Given the description of an element on the screen output the (x, y) to click on. 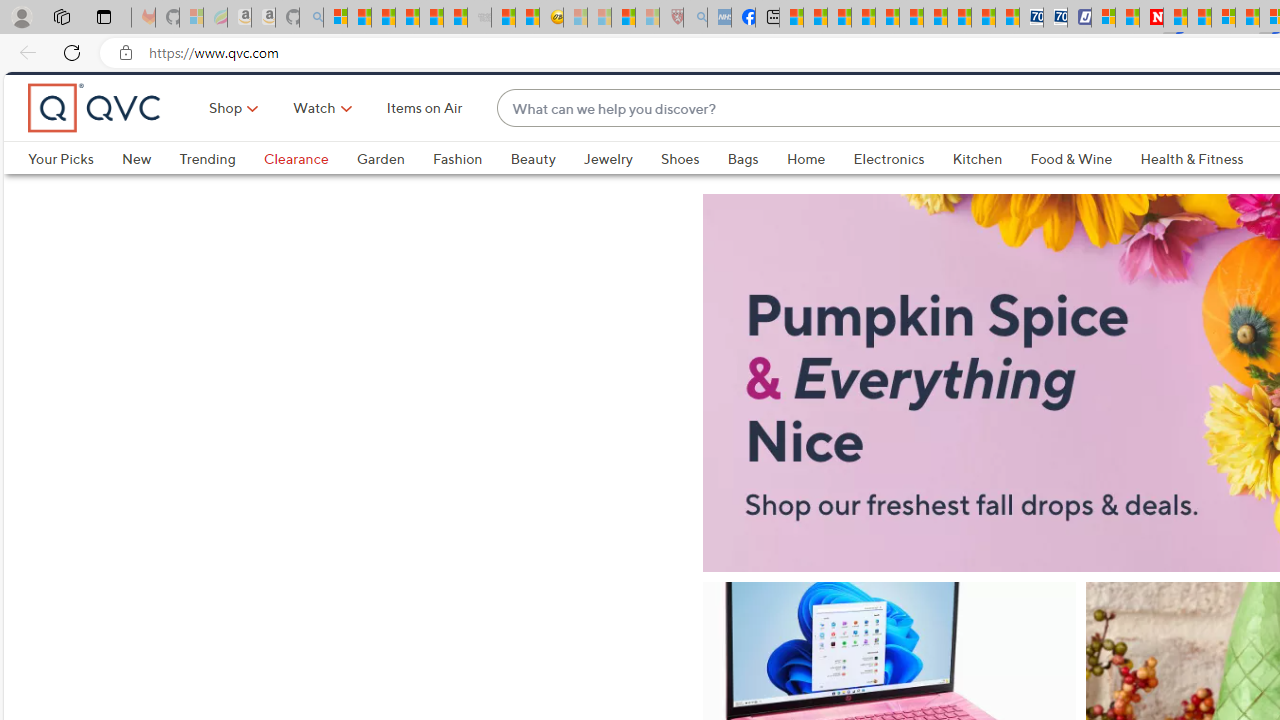
Food & Wine (1071, 192)
New (136, 192)
Your Picks (74, 192)
Clearance (295, 192)
Cheap Hotels - Save70.com (1055, 17)
Health & Fitness (1197, 192)
Bags (757, 192)
Shoes (680, 192)
